Given the description of an element on the screen output the (x, y) to click on. 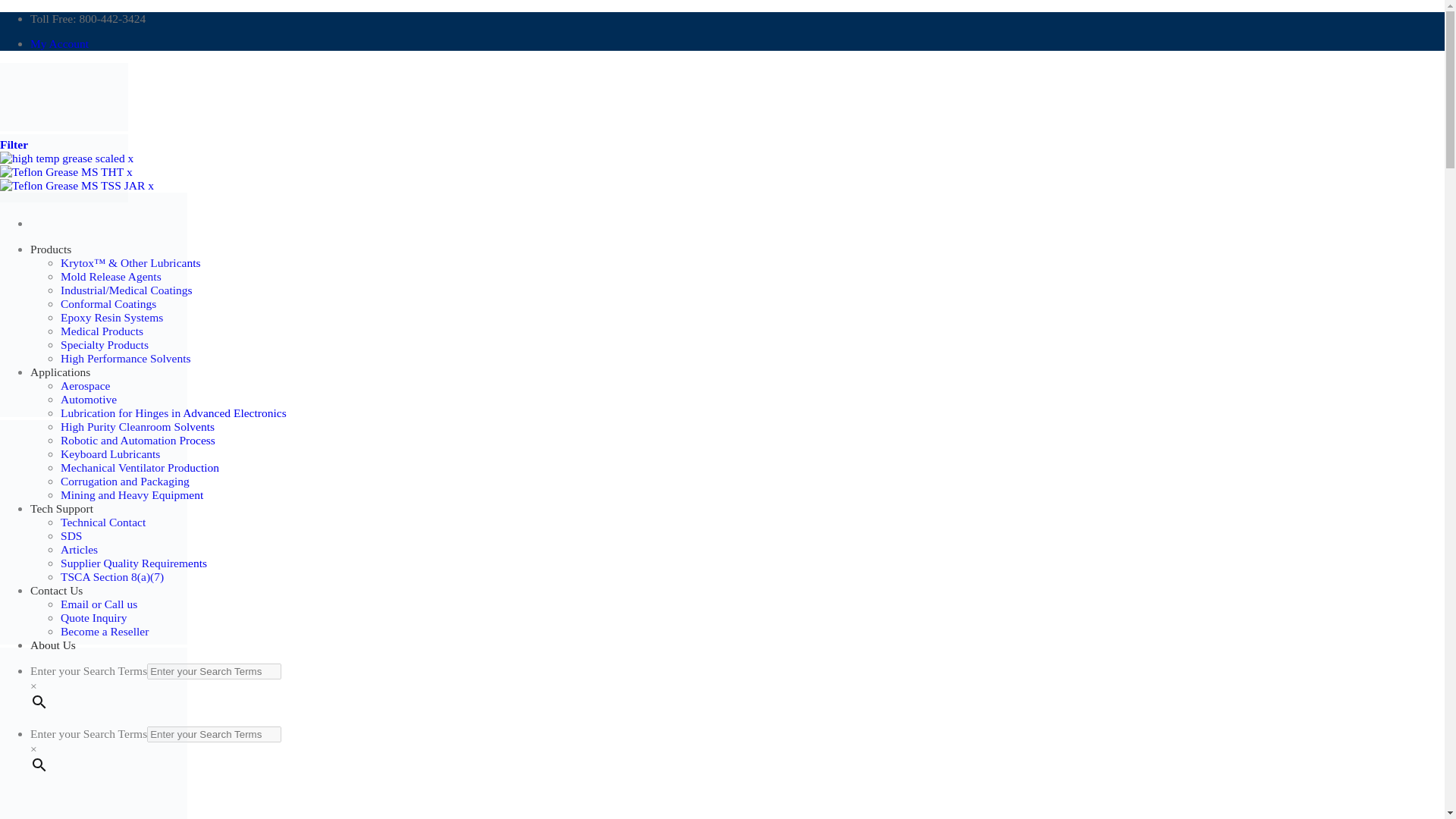
Conformal Coatings (108, 303)
Corrugation and Packaging (125, 481)
Lubrication for Hinges in Advanced Electronics (173, 412)
Articles (79, 549)
Filter (13, 144)
My Account (59, 42)
Products (50, 248)
High Purity Cleanroom Solvents (137, 426)
Applications (60, 371)
About Us (52, 644)
